Given the description of an element on the screen output the (x, y) to click on. 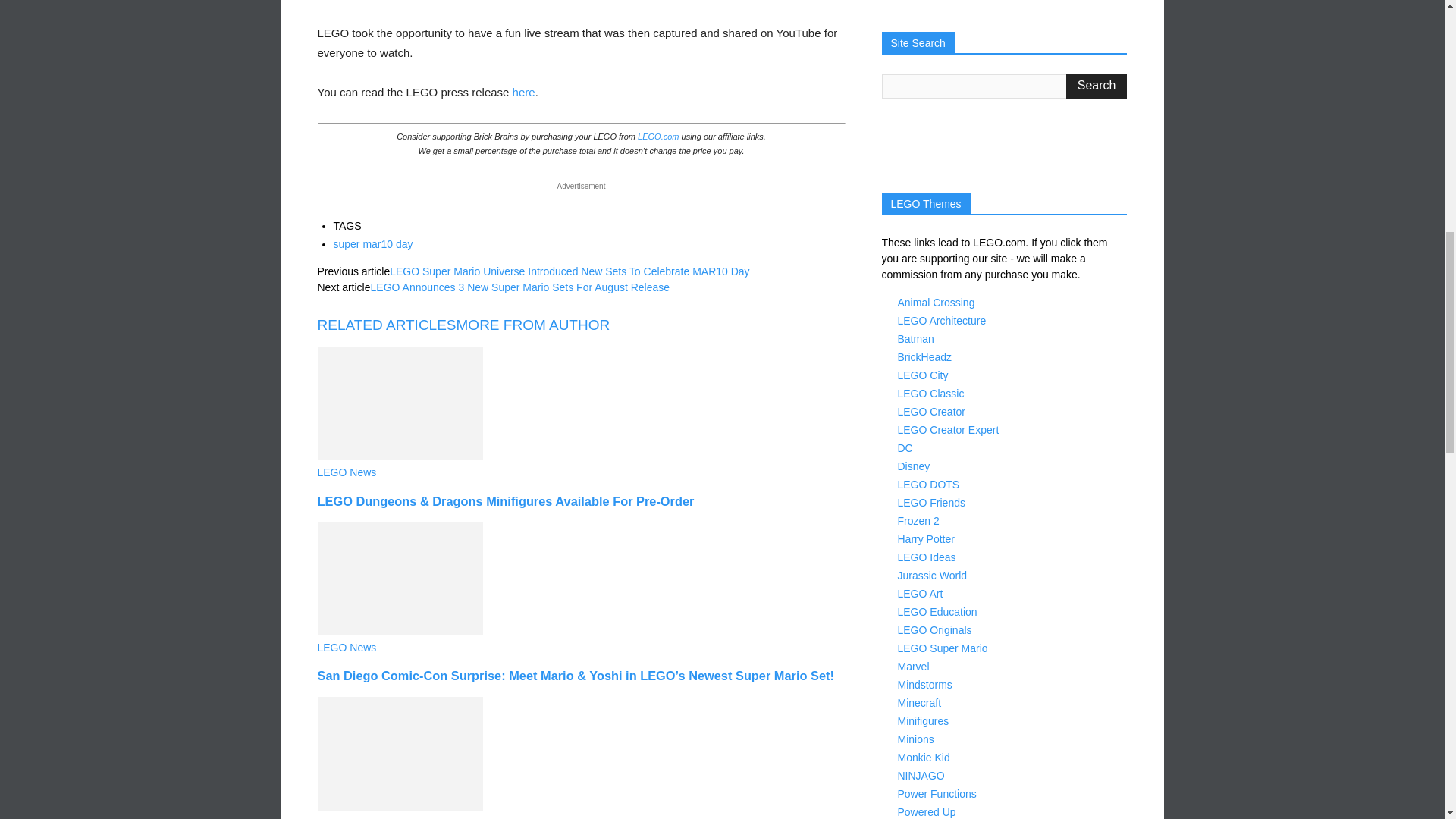
MORE FROM AUTHOR (533, 324)
LEGO.com (657, 135)
Search (1095, 86)
super mar10 day (373, 244)
LEGO Announces 3 New Super Mario Sets For August Release (520, 287)
here (523, 91)
RELATED ARTICLES (386, 324)
